Given the description of an element on the screen output the (x, y) to click on. 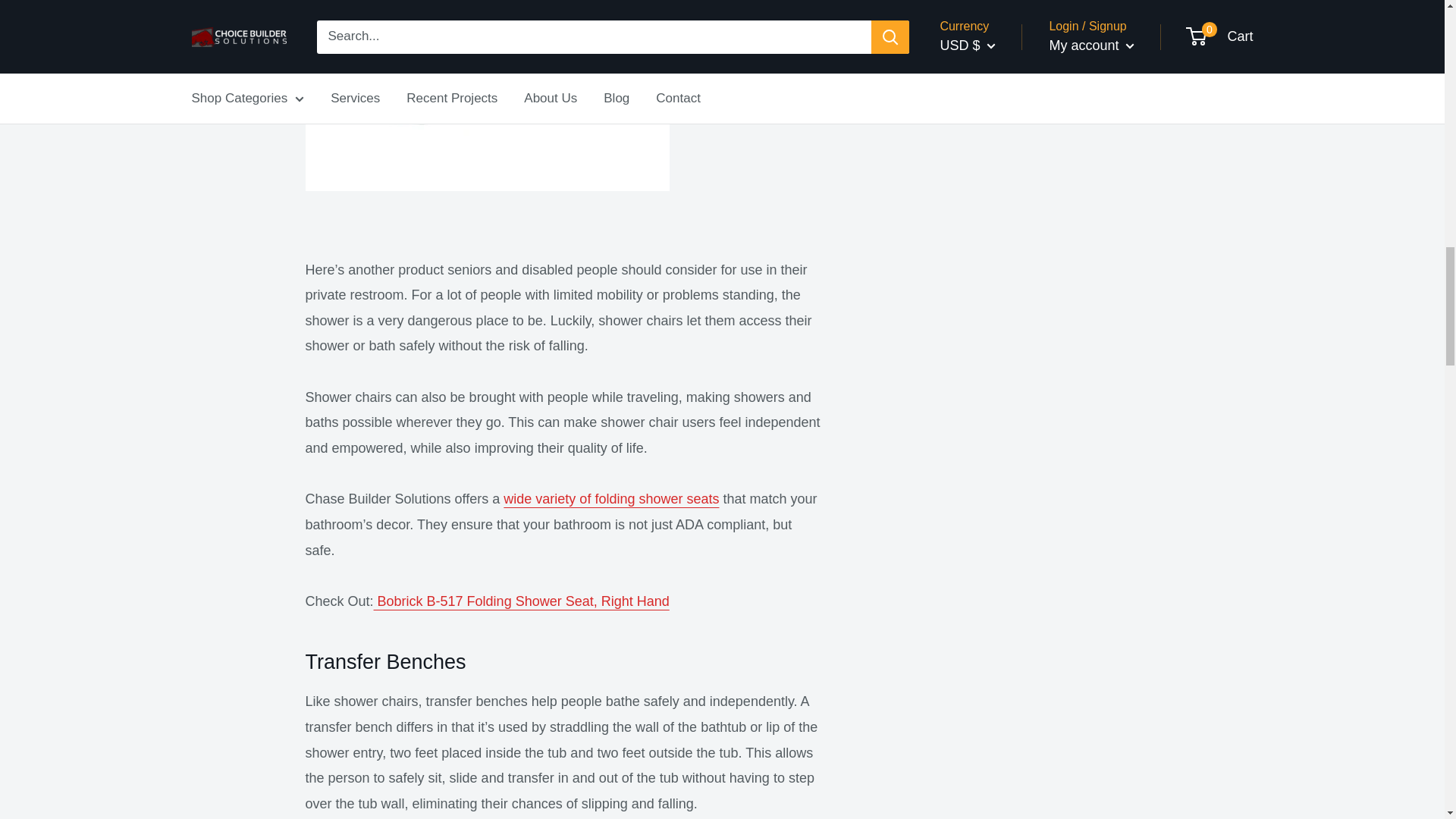
Shower Accessories (611, 498)
Bobrick B-517 Folding Shower Seat, Right Hand (521, 601)
